Given the description of an element on the screen output the (x, y) to click on. 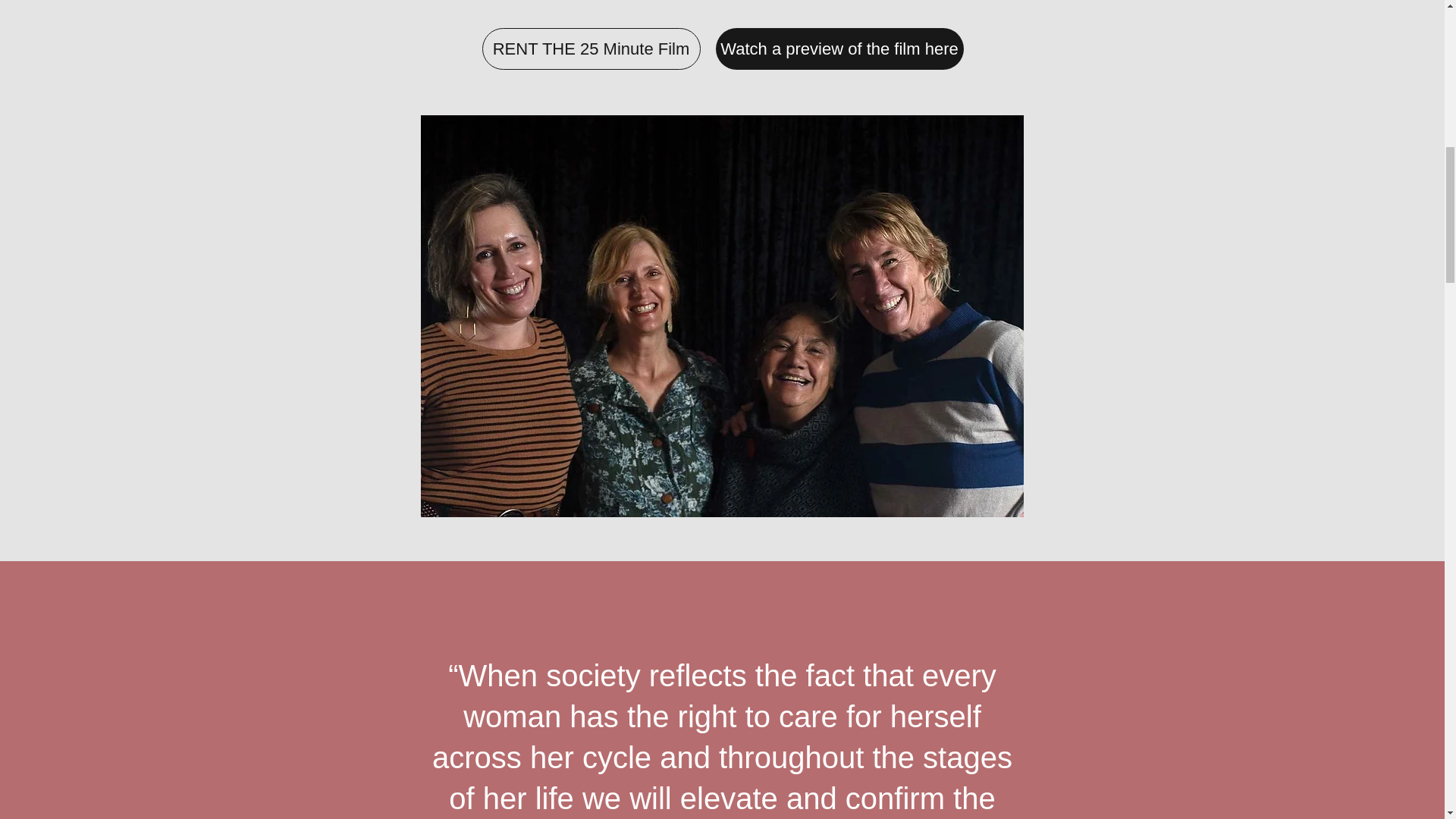
Watch a preview of the film here (839, 48)
RENT THE 25 Minute Film (590, 48)
